Given the description of an element on the screen output the (x, y) to click on. 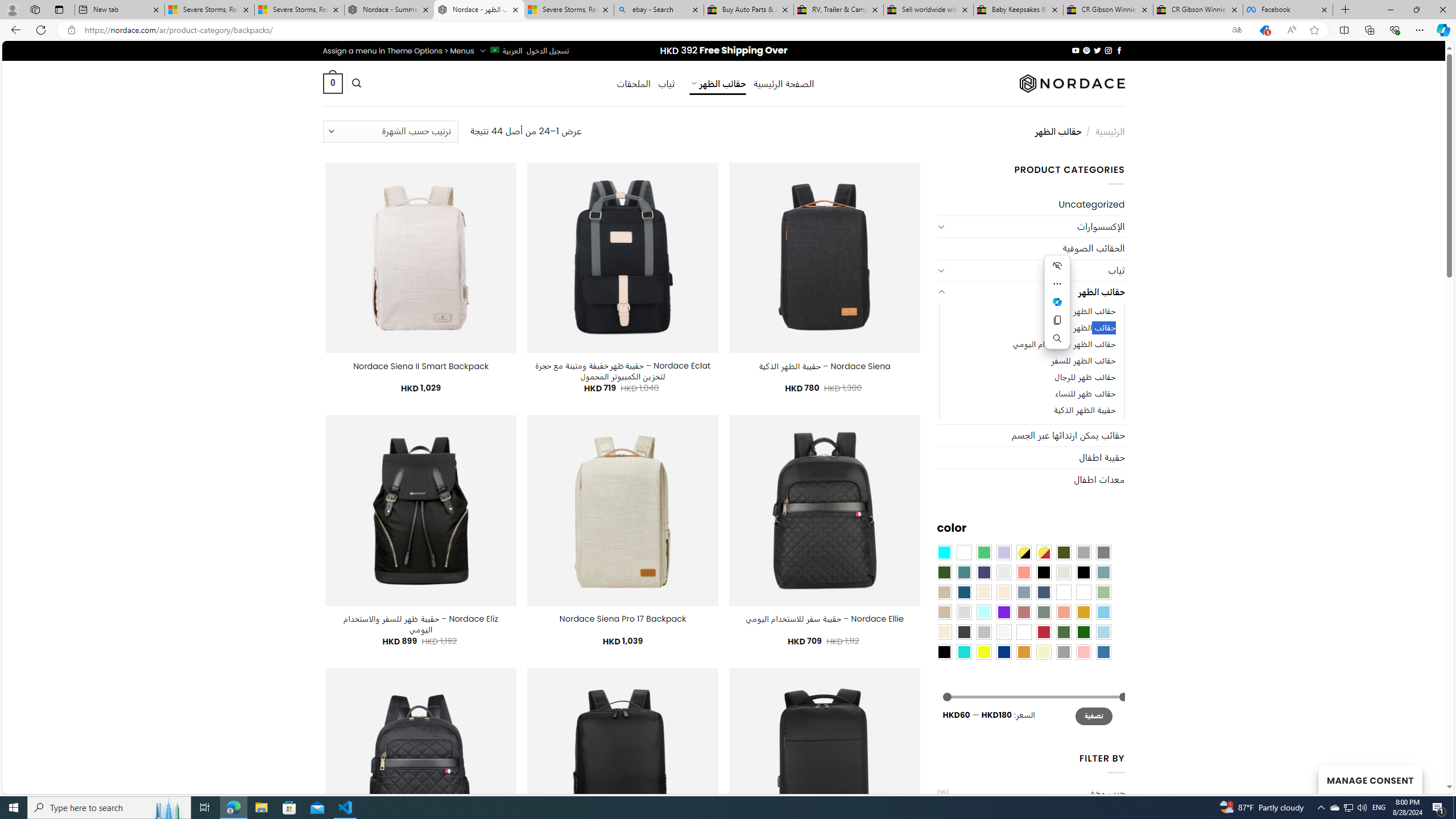
Black-Brown (1082, 572)
Buy Auto Parts & Accessories | eBay (747, 9)
RV, Trailer & Camper Steps & Ladders for sale | eBay (838, 9)
Uncategorized (1030, 204)
Aqua Blue (944, 551)
Teal (963, 572)
